Given the description of an element on the screen output the (x, y) to click on. 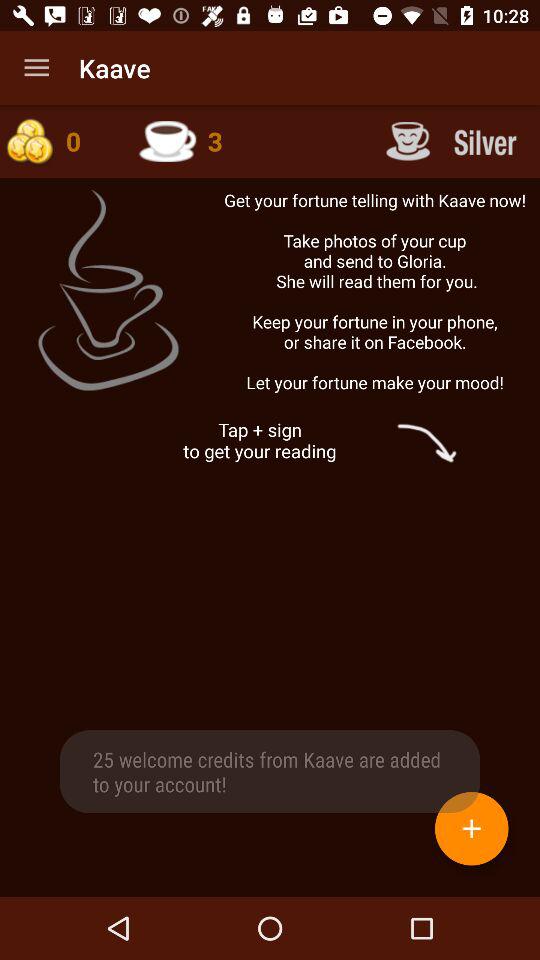
add new (471, 828)
